Given the description of an element on the screen output the (x, y) to click on. 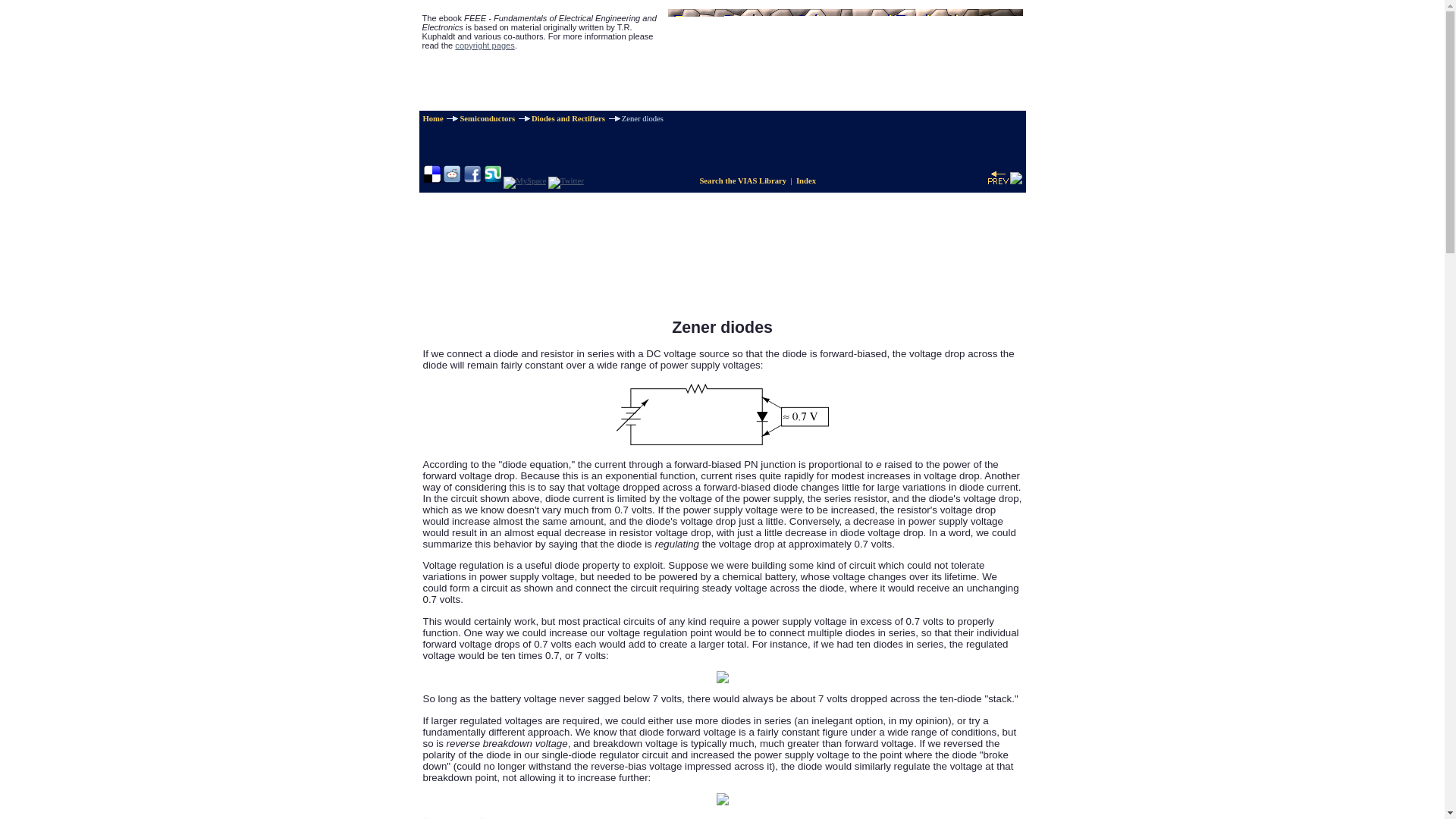
Share This Page on MySpace (524, 180)
Share This Page on Twitter (565, 180)
Diodes and Rectifiers (568, 118)
Share This Page on Delicious (432, 180)
Share This Page on Reddit (451, 180)
Semiconductors (487, 118)
Share This Page on StumbleUpon (492, 180)
Share This Page on Facebook (472, 180)
copyright pages (483, 44)
Index (805, 180)
